Given the description of an element on the screen output the (x, y) to click on. 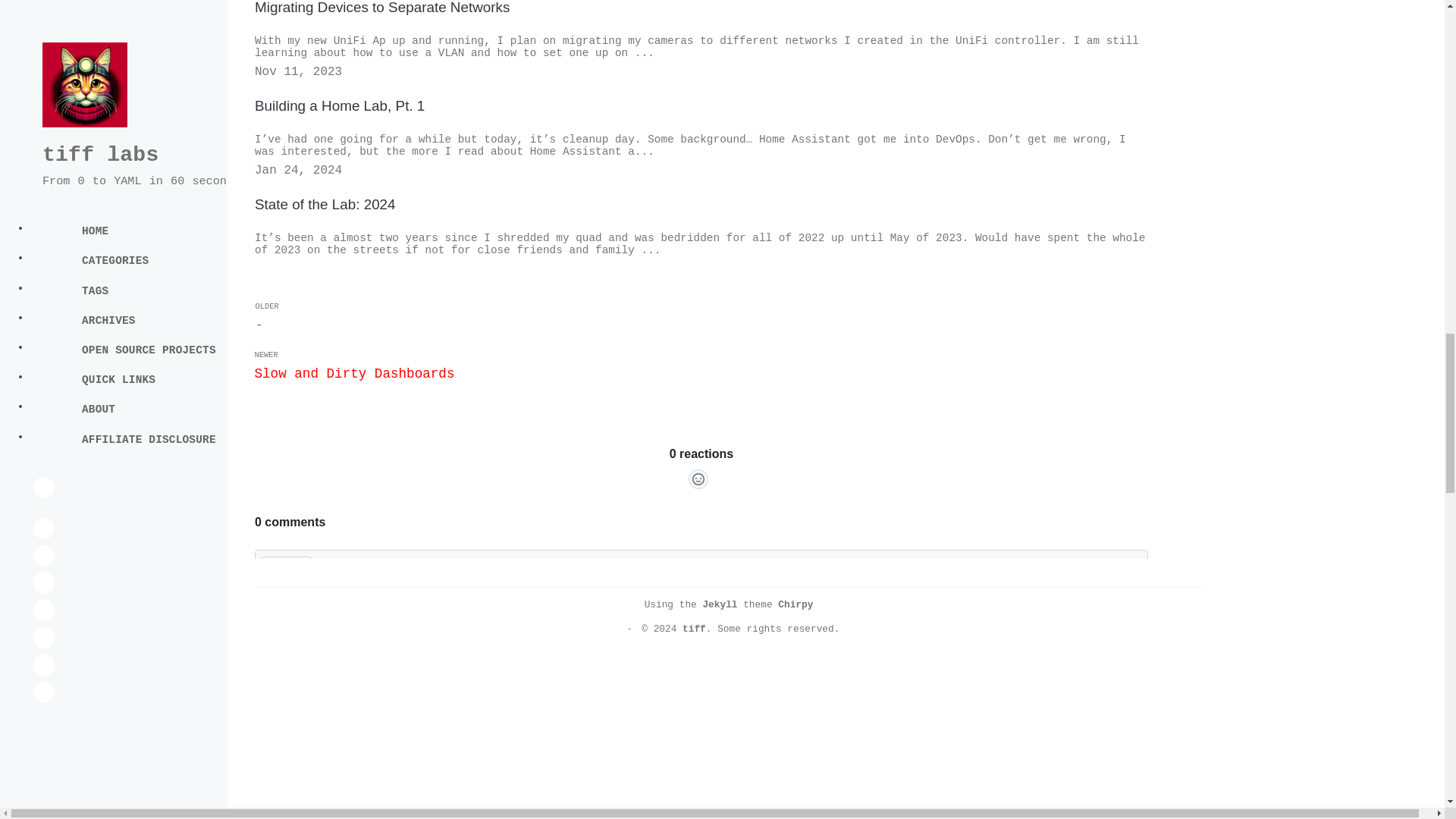
Comments (701, 501)
